Given the description of an element on the screen output the (x, y) to click on. 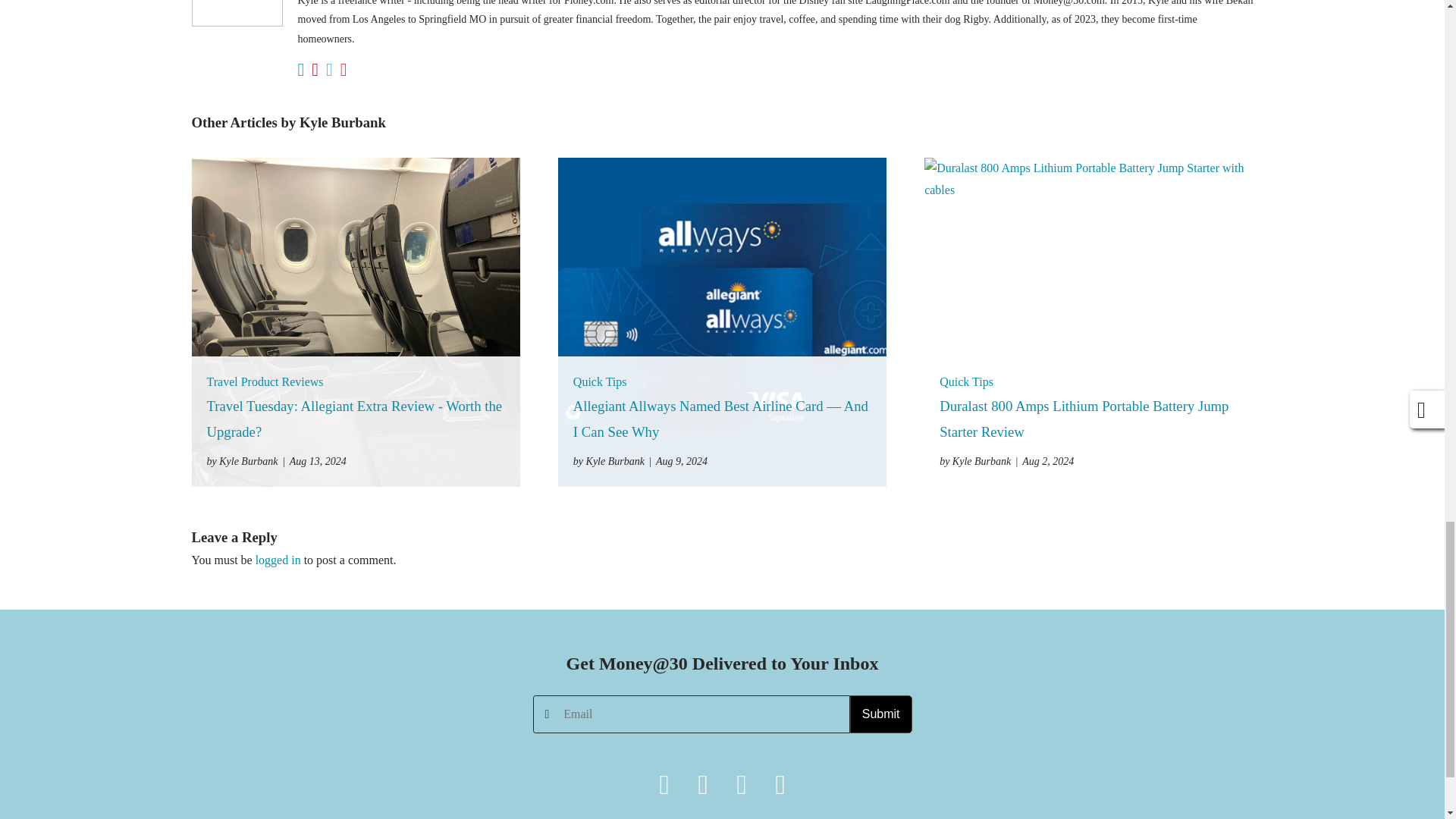
logged in (278, 559)
Quick Tips (965, 381)
Travel Tuesday: Allegiant Extra Review - Worth the Upgrade? (354, 418)
Posts by Kyle Burbank (974, 461)
Travel Product Reviews (264, 381)
Submit (881, 714)
Posts by Kyle Burbank (609, 461)
Posts by Kyle Burbank (242, 461)
Quick Tips (600, 381)
